Given the description of an element on the screen output the (x, y) to click on. 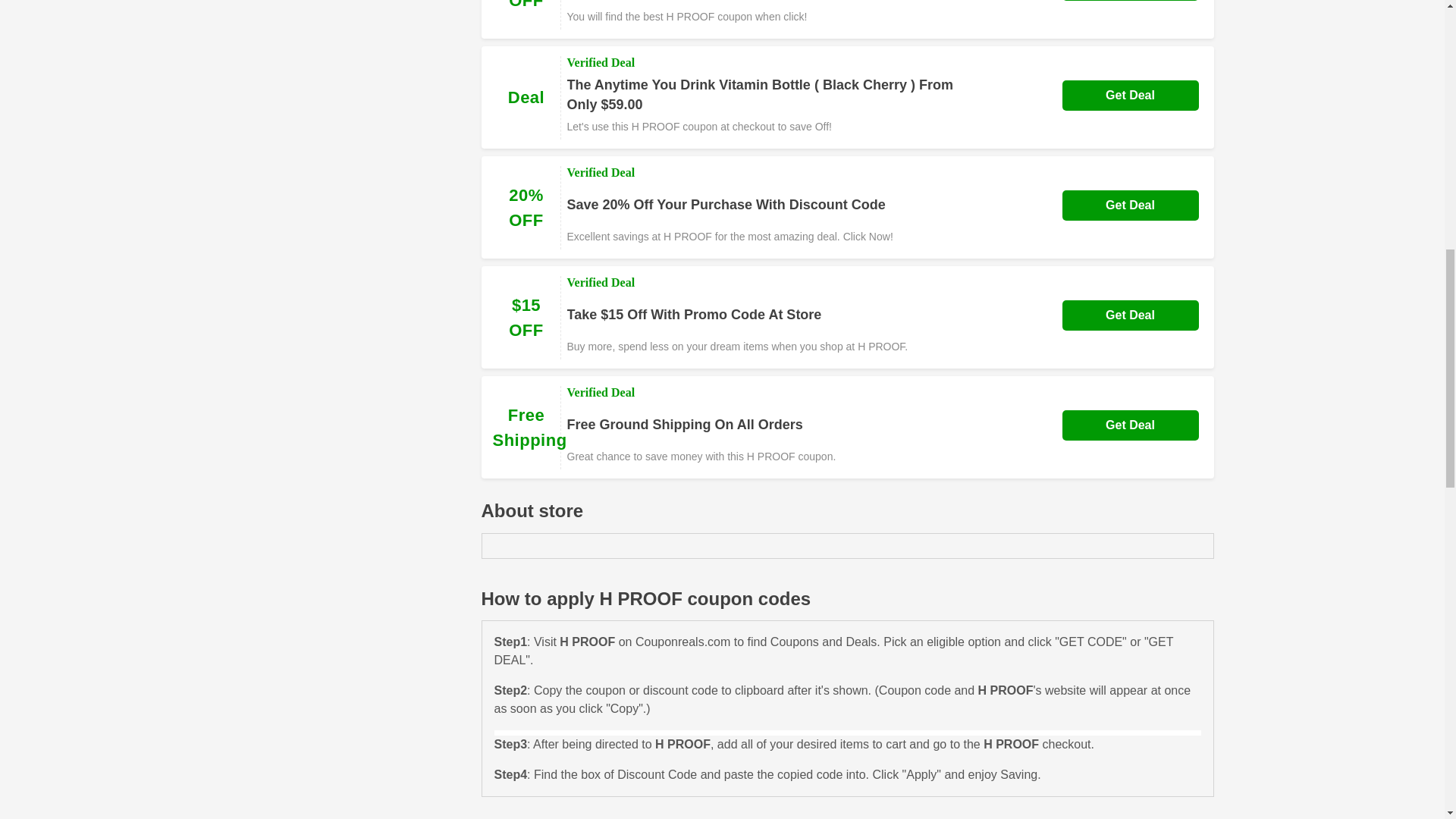
Get Deal (1129, 205)
Free Ground Shipping On All Orders (685, 424)
Get Deal (1129, 95)
Get Deal (1129, 315)
Get Deal (1129, 425)
